Given the description of an element on the screen output the (x, y) to click on. 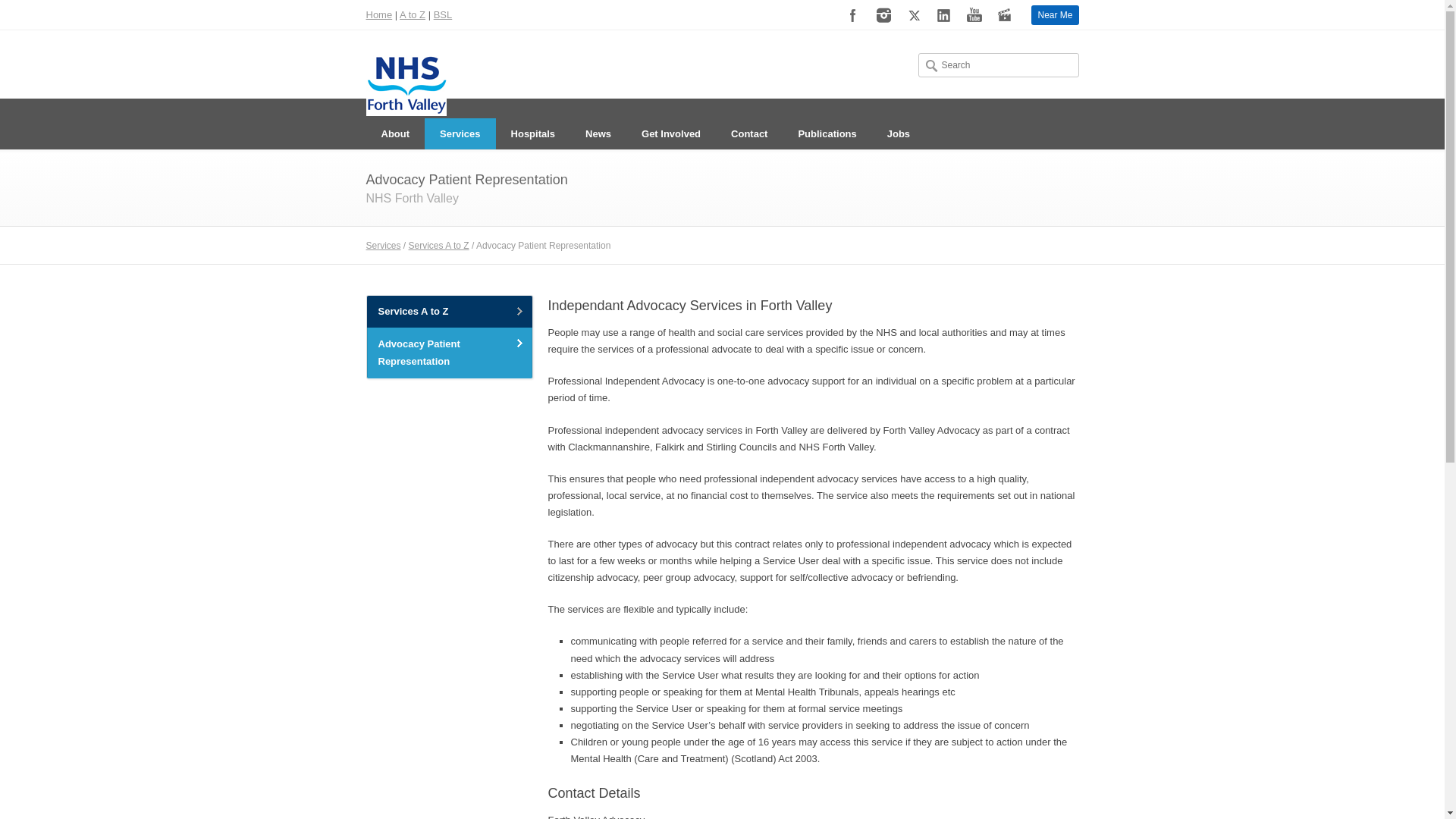
Near Me (1054, 14)
LinkedIn (943, 15)
Home (378, 14)
Videos (1005, 15)
Video Appointments (1054, 14)
Twitter (913, 15)
Services (460, 133)
Directory of Services (411, 14)
YouTube (974, 15)
Videos (1005, 15)
